Given the description of an element on the screen output the (x, y) to click on. 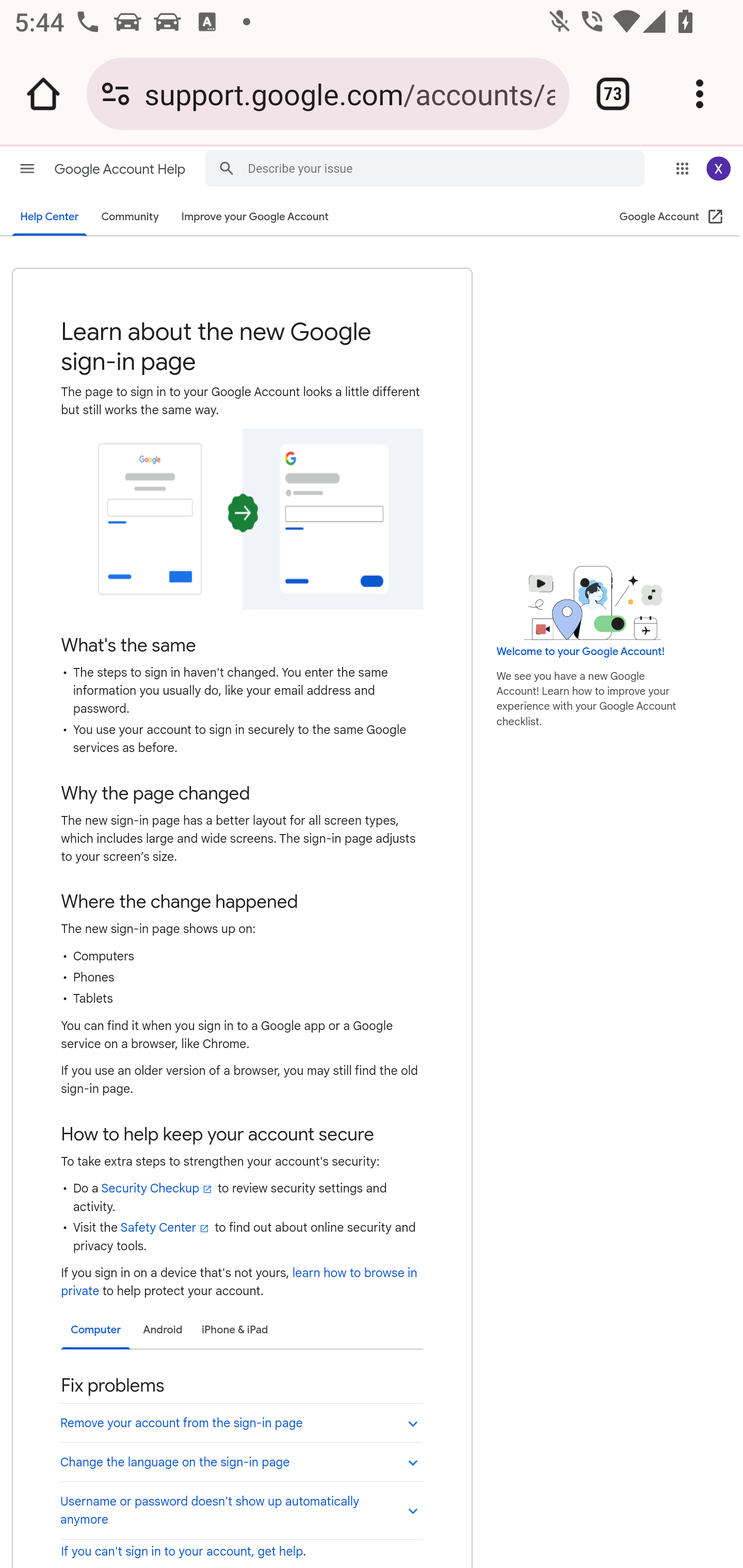
Open the home page (43, 93)
Connection is secure (115, 93)
Switch or close tabs (612, 93)
Customize and control Google Chrome (699, 93)
Main menu (27, 168)
Google Account Help (121, 169)
Search Help Center (226, 167)
Google apps (681, 168)
Google Account: Xiaoran (zxrappiumtest@gmail.com) (718, 168)
Help Center (48, 217)
Community (129, 217)
Improve your Google Account (254, 217)
Learning Center home page image (593, 602)
Welcome to your Google Account! (580, 651)
Security Checkup (157, 1188)
Safety Center (165, 1227)
learn how to browse in private (238, 1282)
Computer (95, 1331)
Android (161, 1330)
iPhone & iPad (234, 1330)
Remove your account from the sign-in page (240, 1421)
Change the language on the sign-in page (240, 1460)
If you can't sign in to your account, get help (181, 1551)
